Given the description of an element on the screen output the (x, y) to click on. 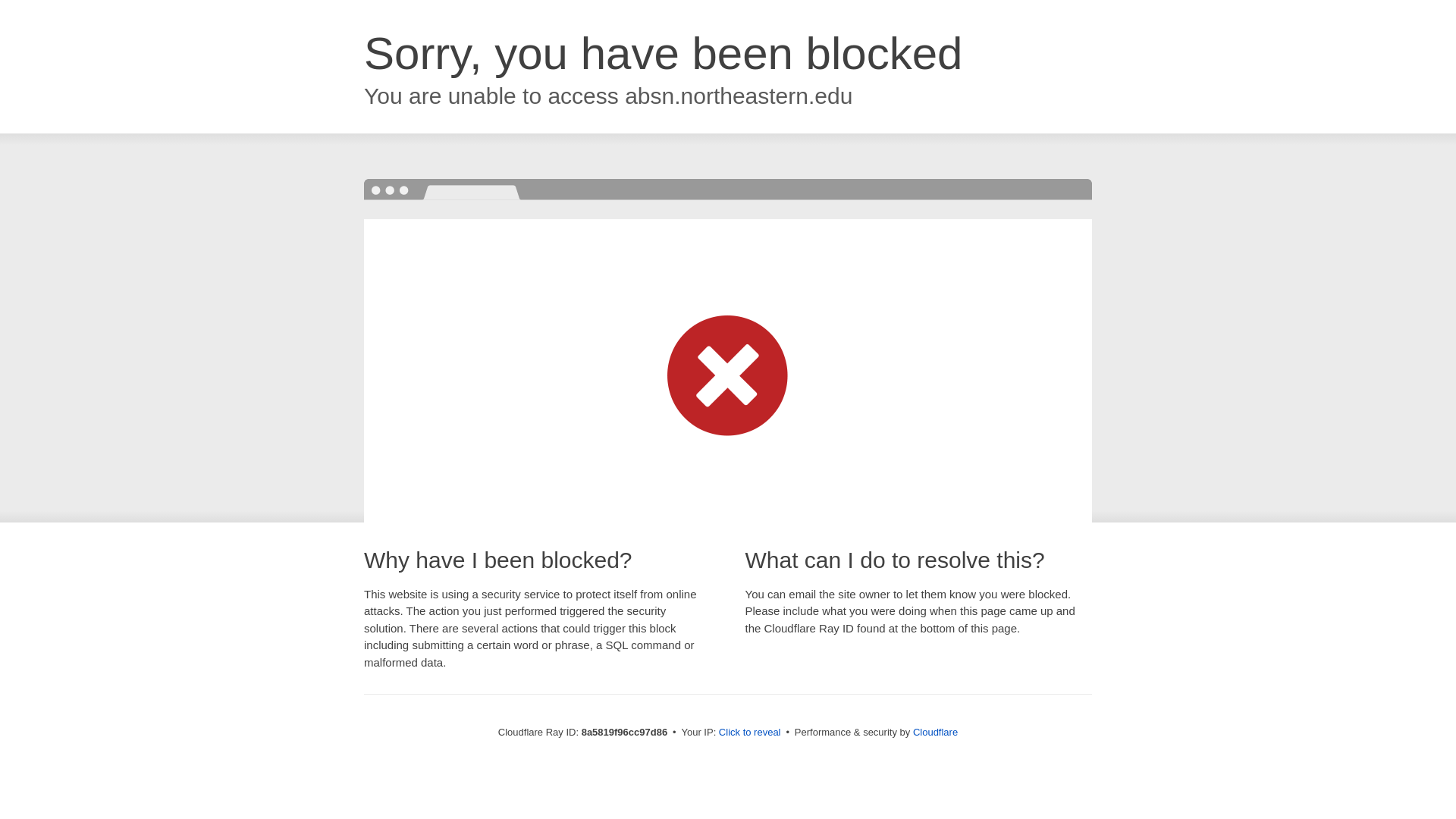
Click to reveal (749, 732)
Cloudflare (935, 731)
